Given the description of an element on the screen output the (x, y) to click on. 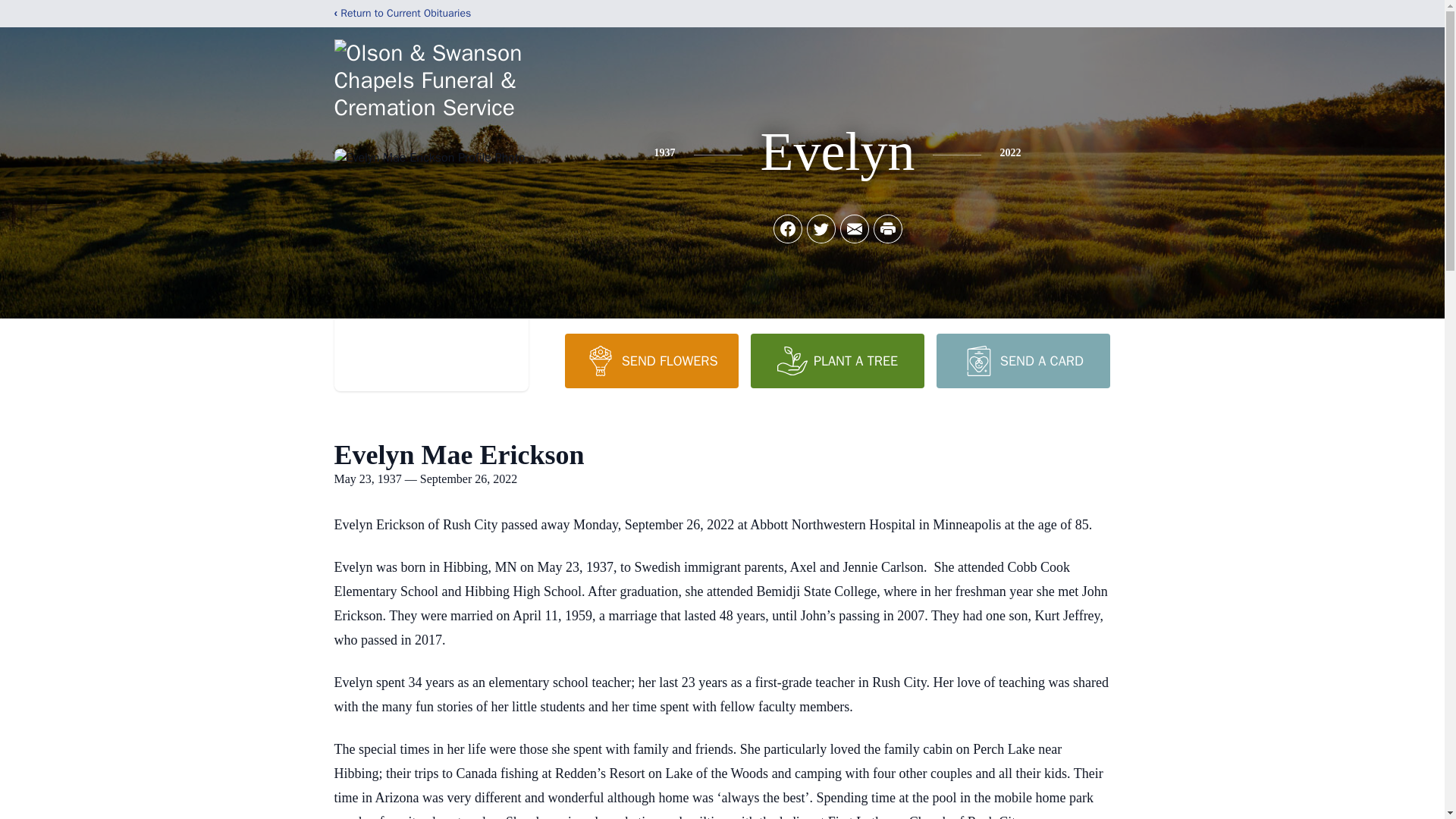
SEND FLOWERS (651, 360)
PLANT A TREE (837, 360)
SEND A CARD (1022, 360)
